Given the description of an element on the screen output the (x, y) to click on. 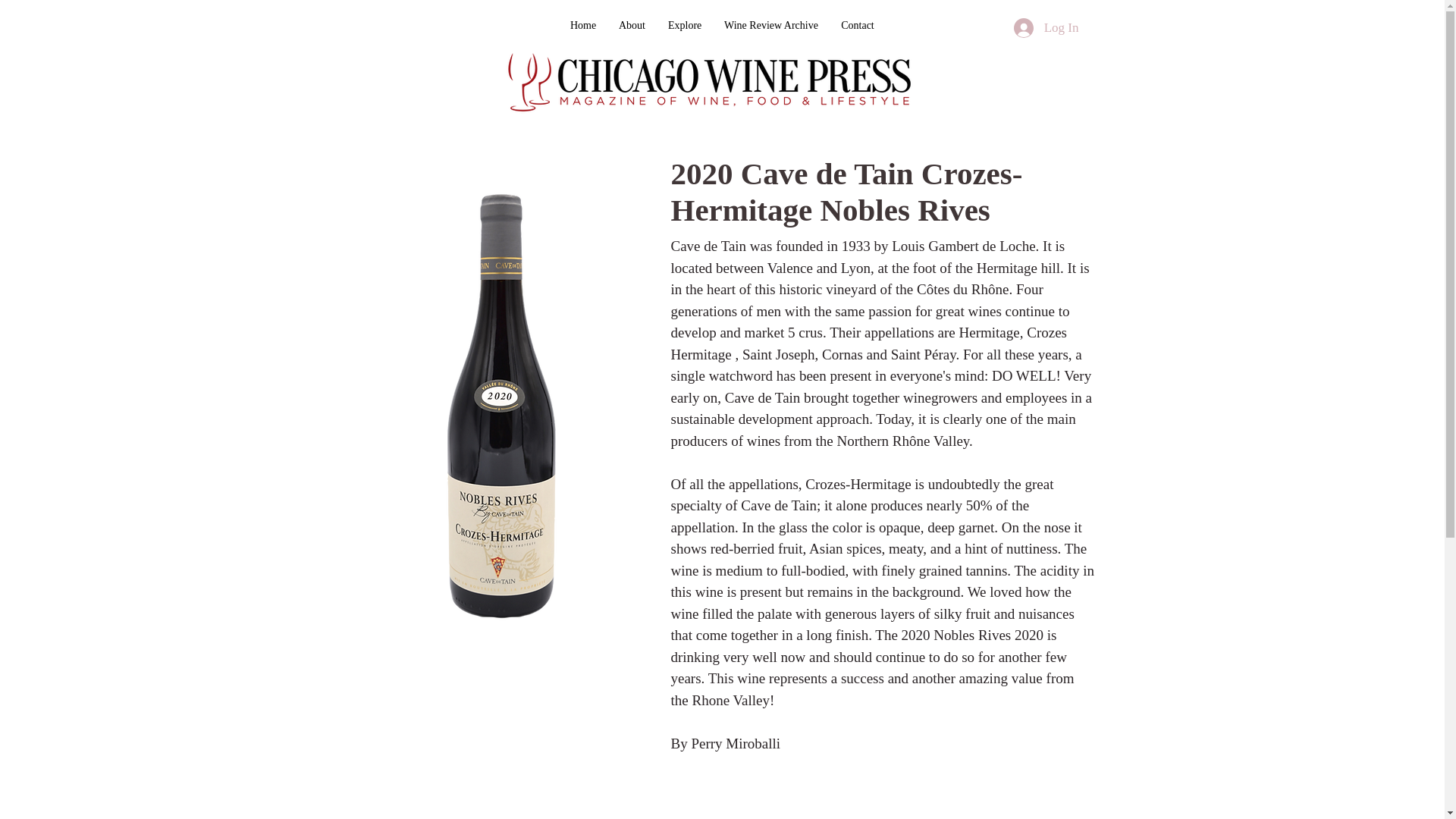
Home (583, 25)
Wine Review Archive (771, 25)
Log In (1046, 27)
About (631, 25)
Explore (684, 25)
Contact (857, 25)
